Given the description of an element on the screen output the (x, y) to click on. 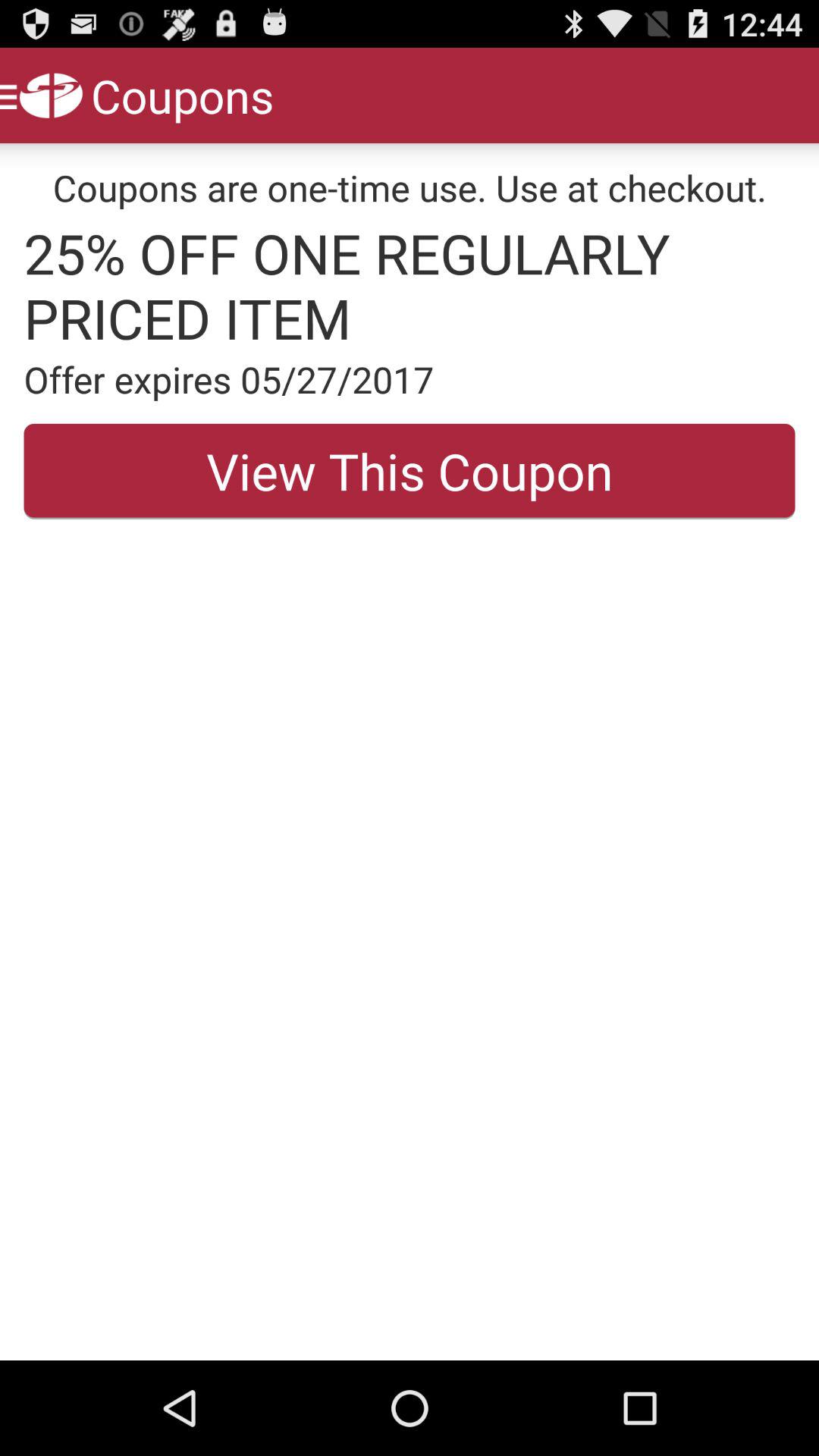
open the app below coupons are one (409, 285)
